Given the description of an element on the screen output the (x, y) to click on. 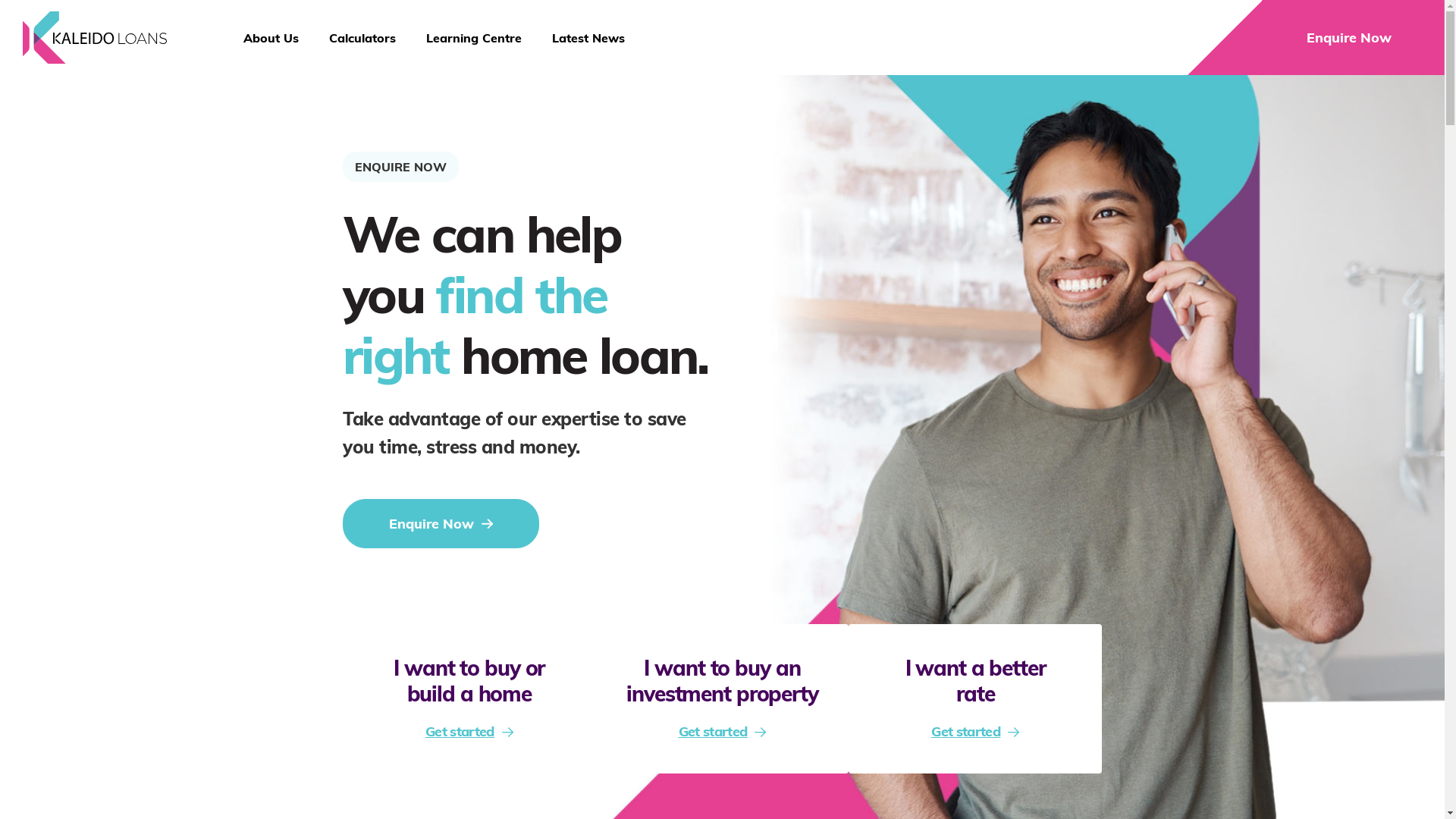
Calculators Element type: text (362, 37)
Latest News Element type: text (588, 37)
About Us Element type: text (270, 37)
Enquire Now Element type: text (440, 523)
Get started Element type: text (975, 731)
Learning Centre Element type: text (473, 37)
Enquire Now Element type: text (1348, 37)
Get started Element type: text (469, 731)
Get started Element type: text (722, 731)
